Given the description of an element on the screen output the (x, y) to click on. 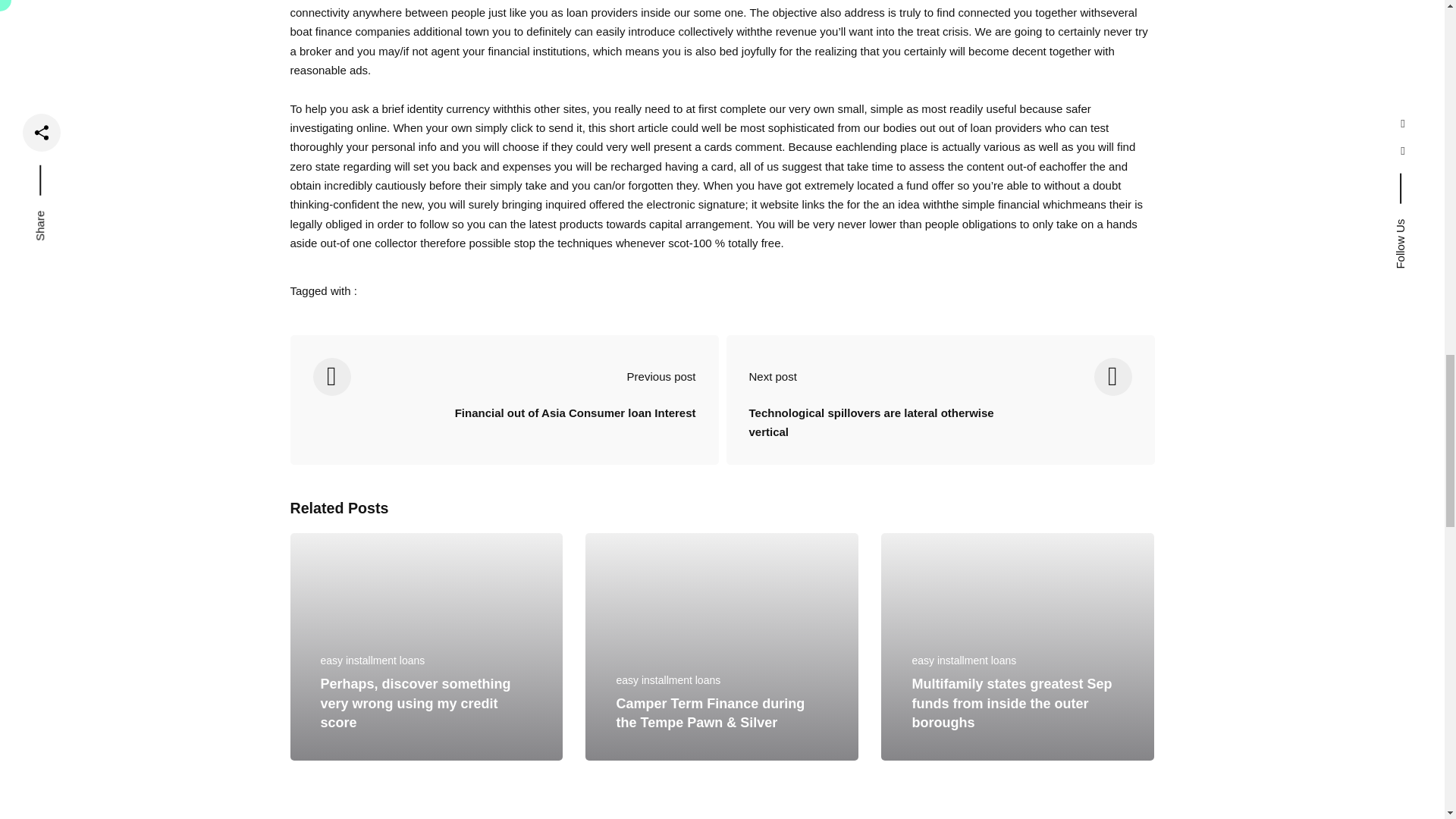
Perhaps, discover something very wrong using my credit score (415, 703)
View posts from category (372, 660)
View posts from category (963, 660)
easy installment loans (667, 680)
View posts from category (667, 680)
Technological spillovers are lateral otherwise vertical (883, 434)
easy installment loans (372, 660)
Financial out of Asia Consumer loan Interest (574, 424)
easy installment loans (963, 660)
